Given the description of an element on the screen output the (x, y) to click on. 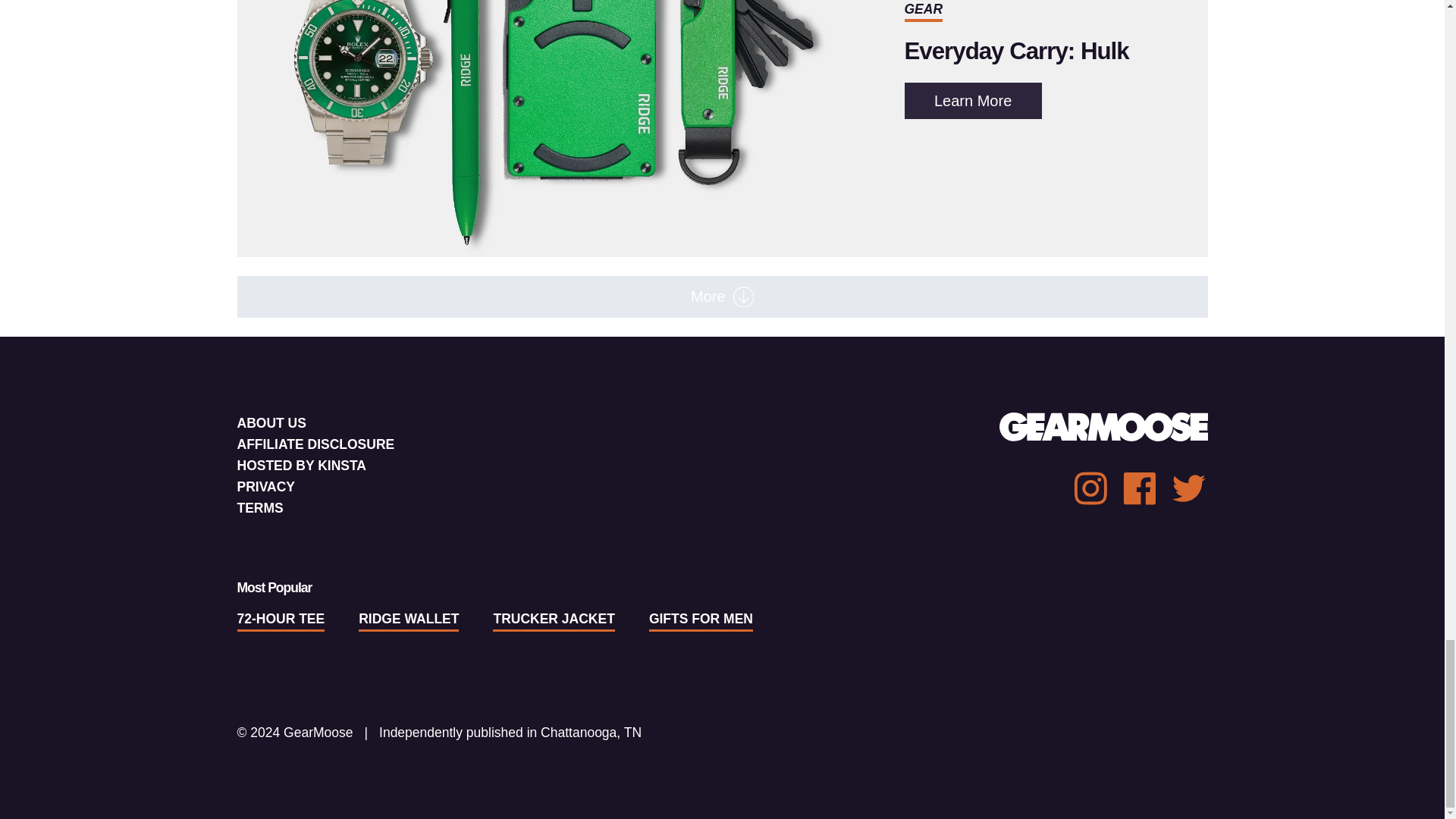
Everyday Carry: Hulk (972, 100)
GEAR (1016, 50)
